Given the description of an element on the screen output the (x, y) to click on. 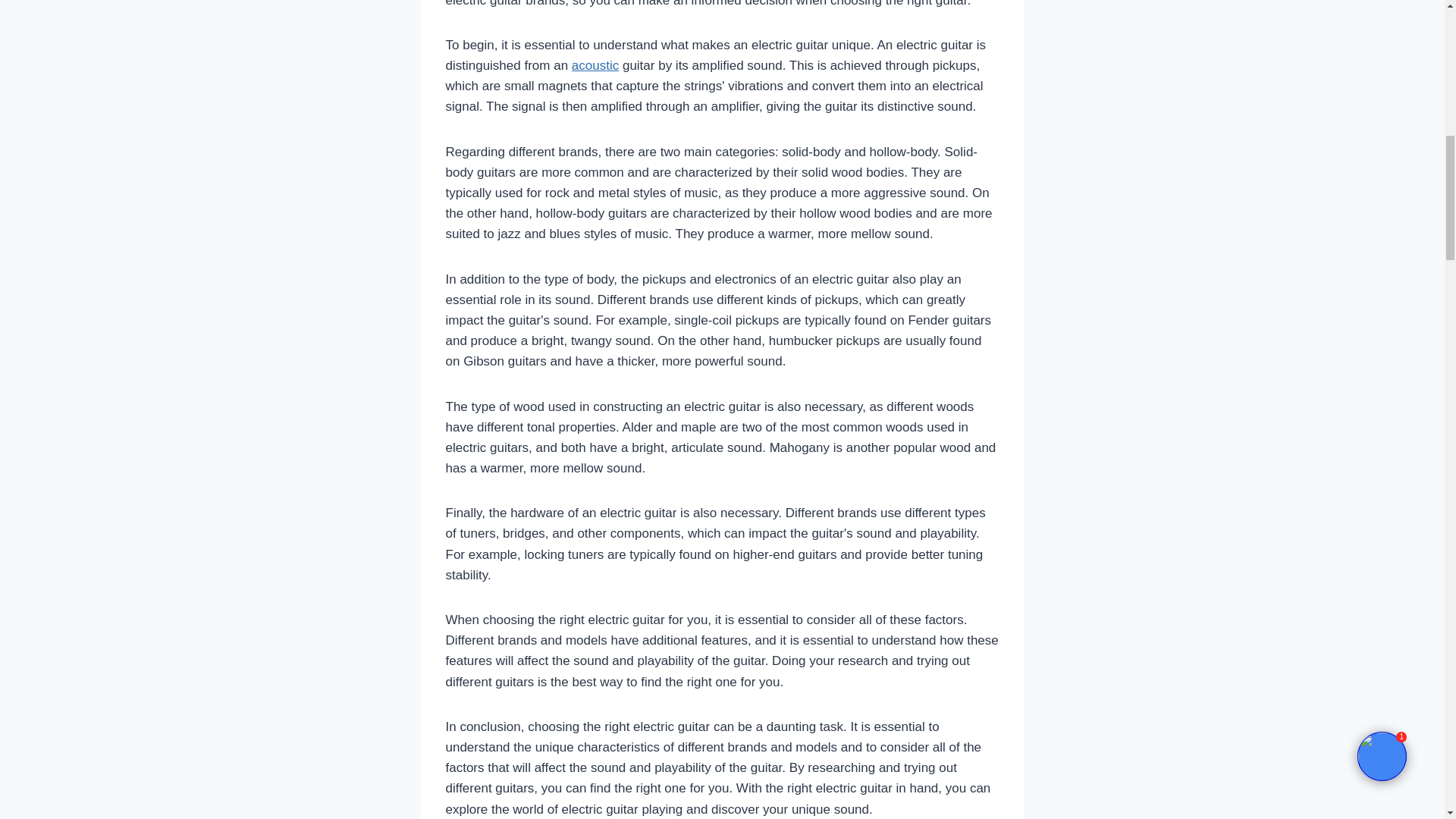
learn acoustic guitar (595, 65)
acoustic (595, 65)
